Given the description of an element on the screen output the (x, y) to click on. 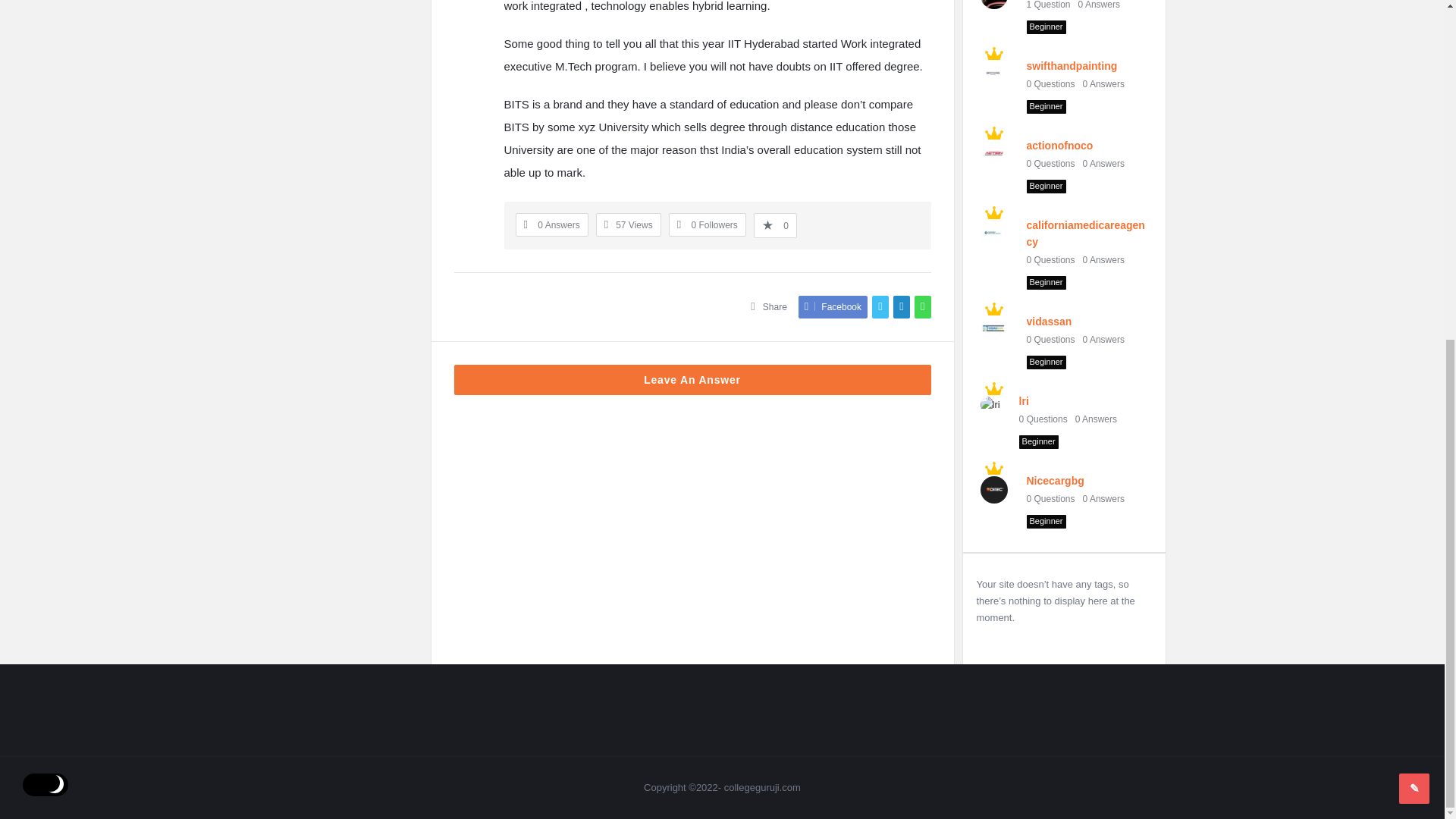
Follow the question (707, 224)
Add this question to favorites (775, 225)
probookwriters (994, 5)
